Given the description of an element on the screen output the (x, y) to click on. 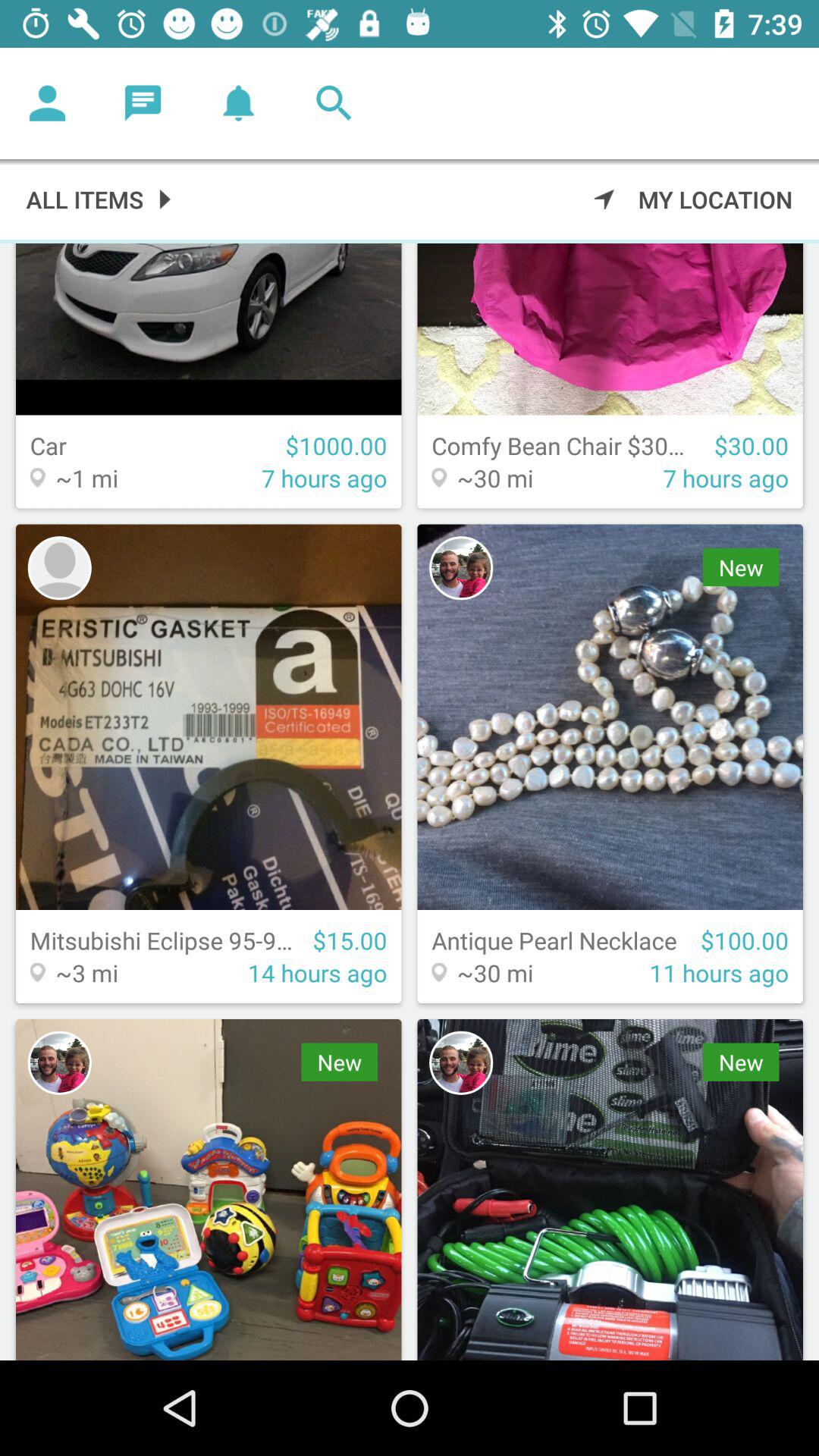
profile icon (461, 568)
